Given the description of an element on the screen output the (x, y) to click on. 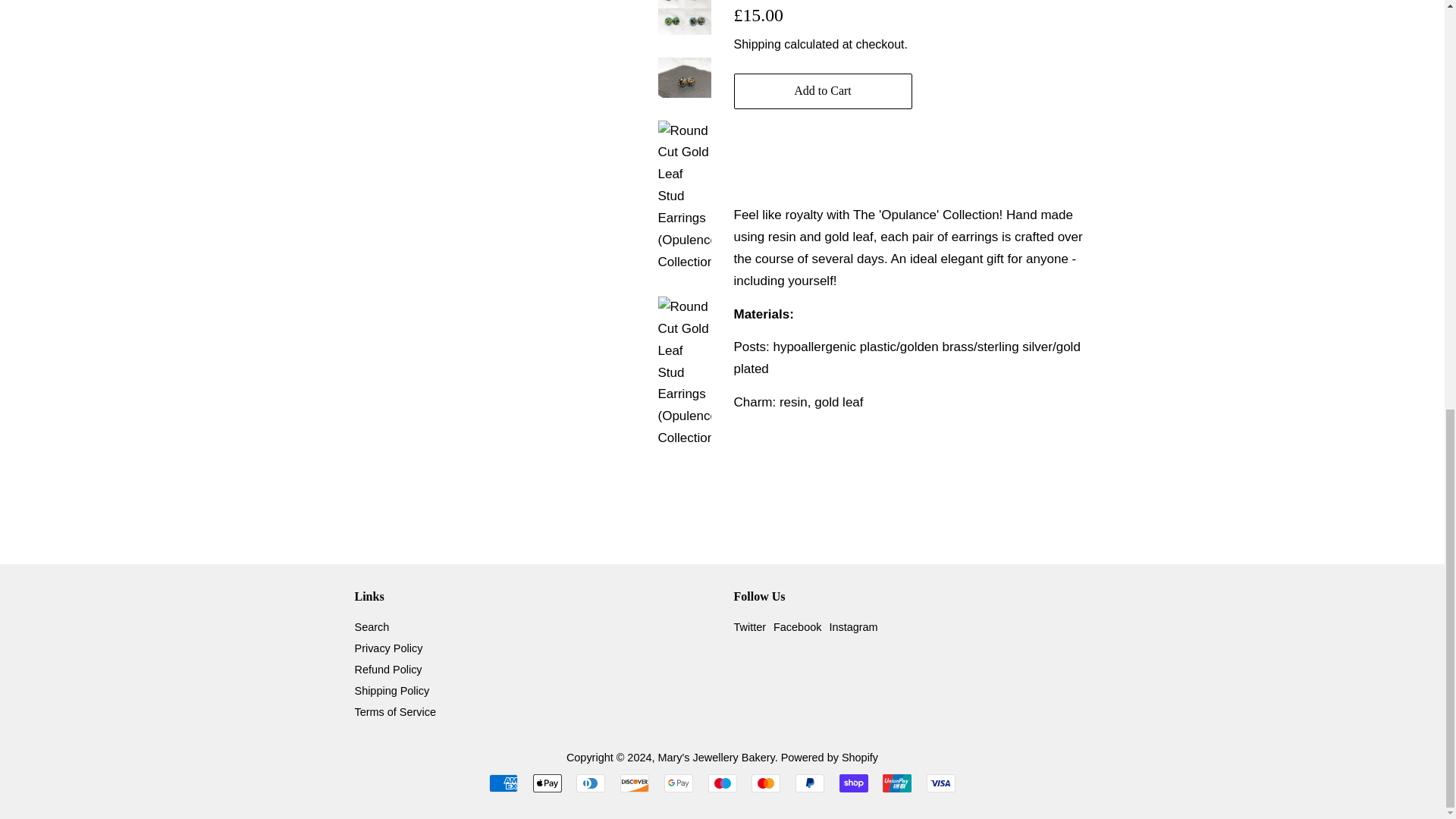
Diners Club (590, 782)
Mary's Jewellery Bakery on Twitter (750, 626)
Discover (634, 782)
Union Pay (896, 782)
Maestro (721, 782)
Apple Pay (547, 782)
Shop Pay (853, 782)
Mastercard (765, 782)
Visa (940, 782)
Mary's Jewellery Bakery on Instagram (852, 626)
American Express (503, 782)
Google Pay (678, 782)
Mary's Jewellery Bakery on Facebook (797, 626)
PayPal (809, 782)
